Given the description of an element on the screen output the (x, y) to click on. 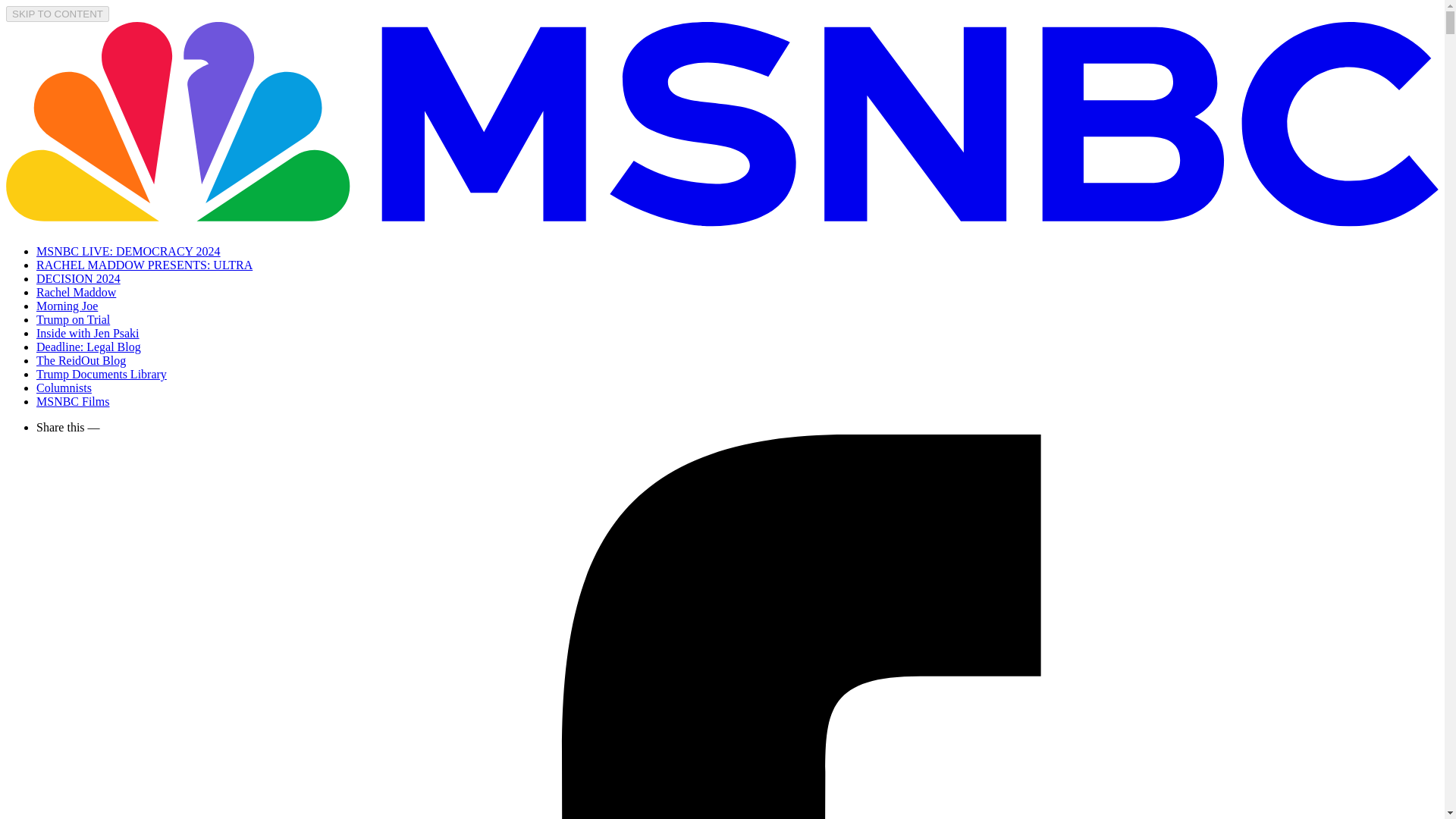
SKIP TO CONTENT (57, 13)
RACHEL MADDOW PRESENTS: ULTRA (143, 264)
Rachel Maddow (76, 291)
Trump on Trial (73, 318)
Columnists (63, 387)
MSNBC Films (72, 400)
Morning Joe (66, 305)
Trump Documents Library (101, 373)
Inside with Jen Psaki (87, 332)
Deadline: Legal Blog (88, 346)
MSNBC LIVE: DEMOCRACY 2024 (128, 250)
The ReidOut Blog (80, 359)
DECISION 2024 (78, 278)
